Given the description of an element on the screen output the (x, y) to click on. 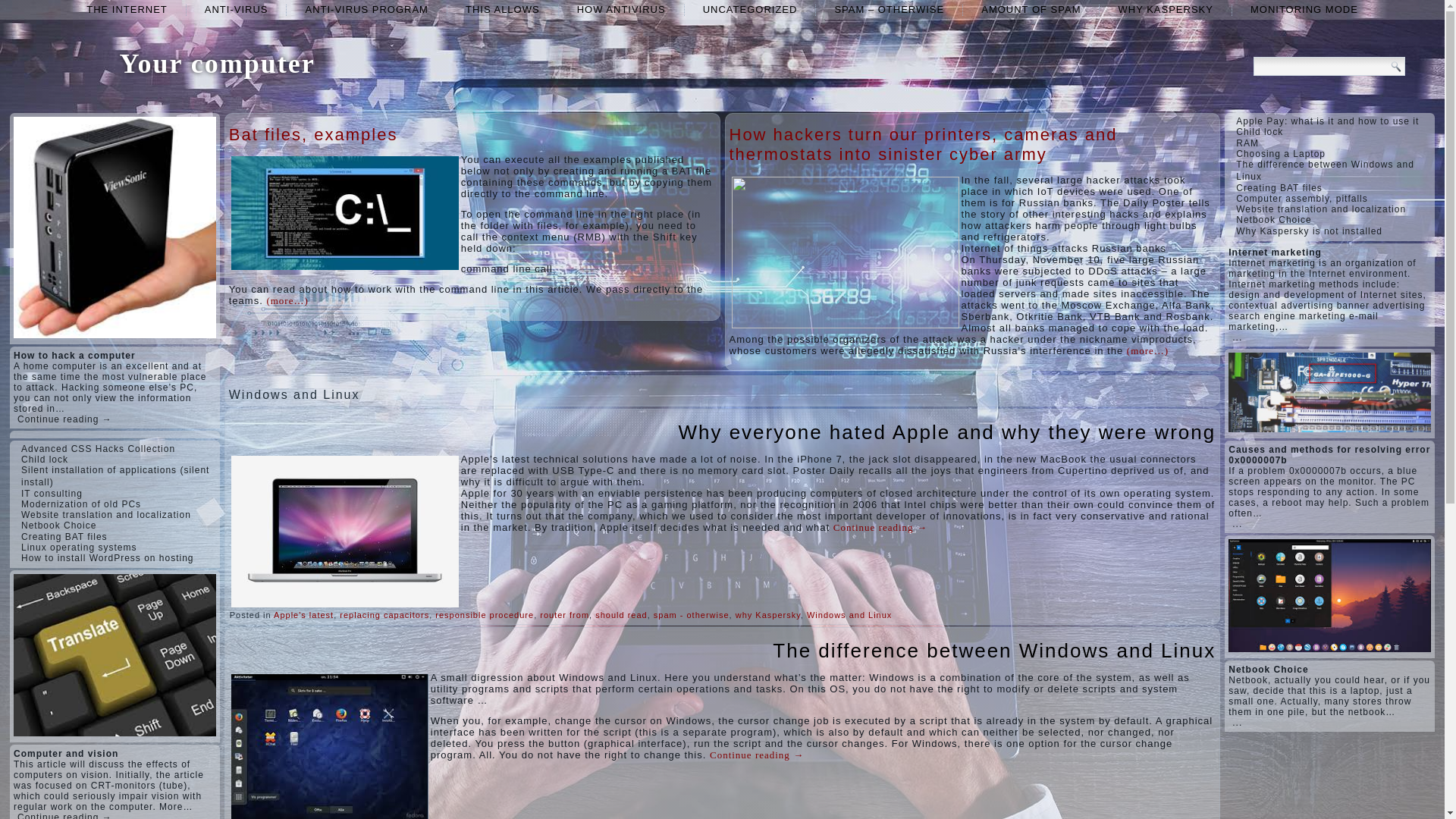
Netbook Choice (58, 525)
Why everyone hated Apple and why they were wrong (946, 431)
how antivirus (621, 9)
Child lock (44, 459)
Website translation and localization (105, 514)
UNCATEGORIZED (749, 9)
How to install WordPress on hosting (107, 557)
router from (564, 614)
ANTI-VIRUS PROGRAM (366, 9)
monitoring mode (1303, 9)
ANTI-VIRUS (236, 9)
Child lock (44, 459)
Creating BAT files (64, 536)
anti-virus (236, 9)
amount of spam (1030, 9)
